Given the description of an element on the screen output the (x, y) to click on. 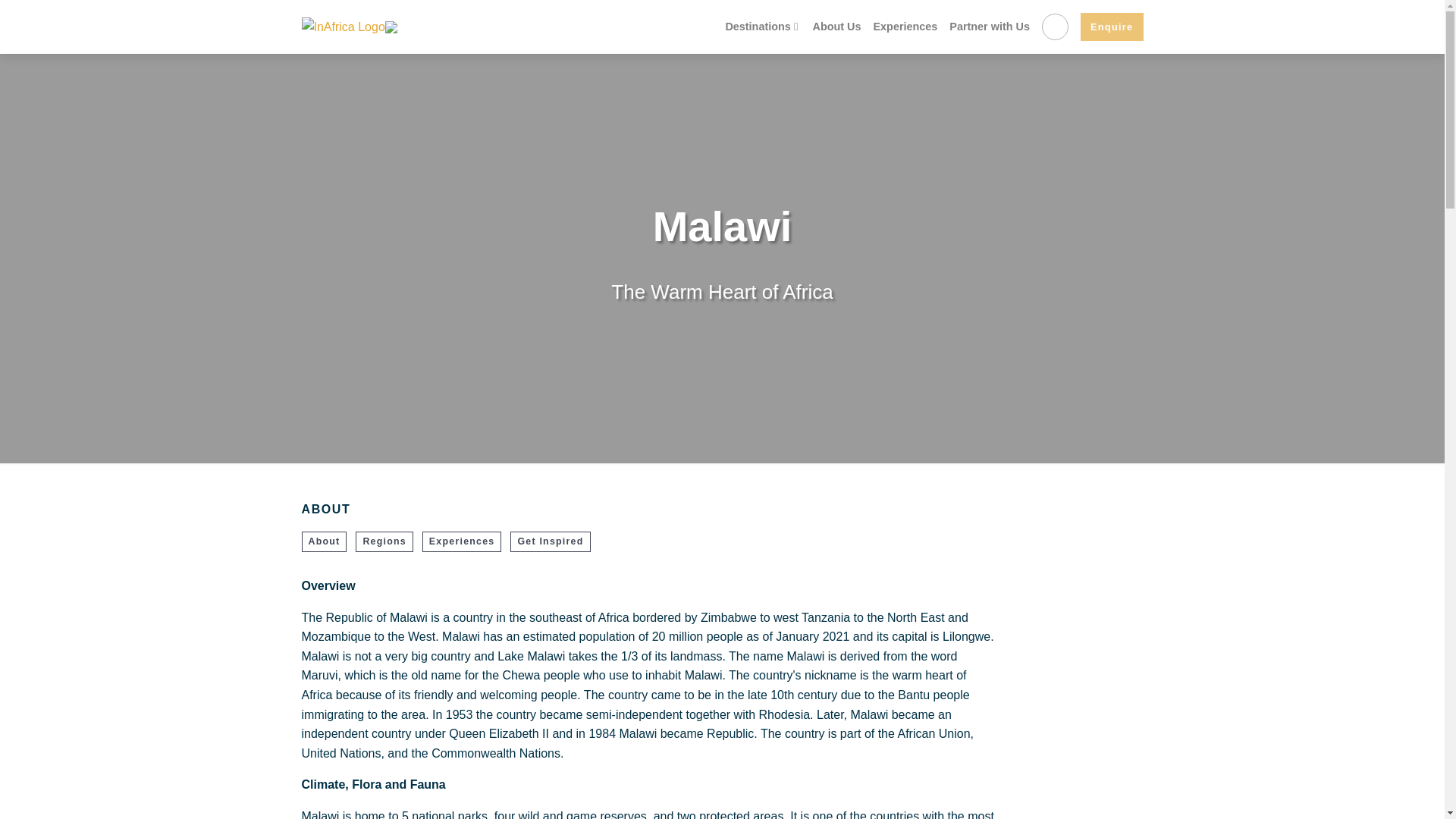
Destinations (762, 26)
About Regions Experiences Get Inspired (649, 547)
Partner with Us (989, 26)
Experiences (905, 26)
About Us (836, 26)
Enquire (1111, 26)
